Given the description of an element on the screen output the (x, y) to click on. 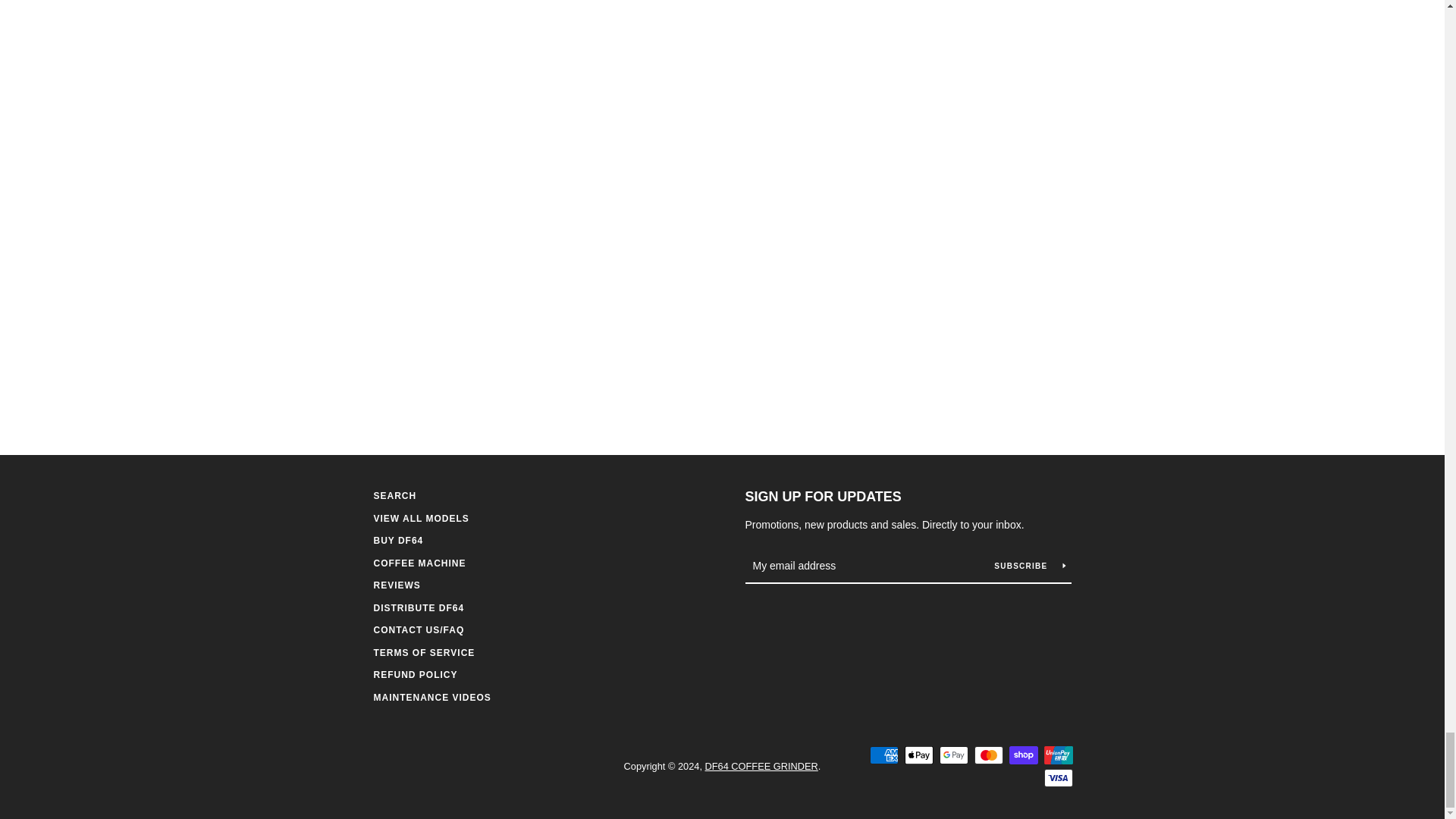
Union Pay (1057, 755)
Apple Pay (918, 755)
American Express (883, 755)
Visa (1057, 778)
Google Pay (953, 755)
Shop Pay (1022, 755)
Mastercard (988, 755)
